Given the description of an element on the screen output the (x, y) to click on. 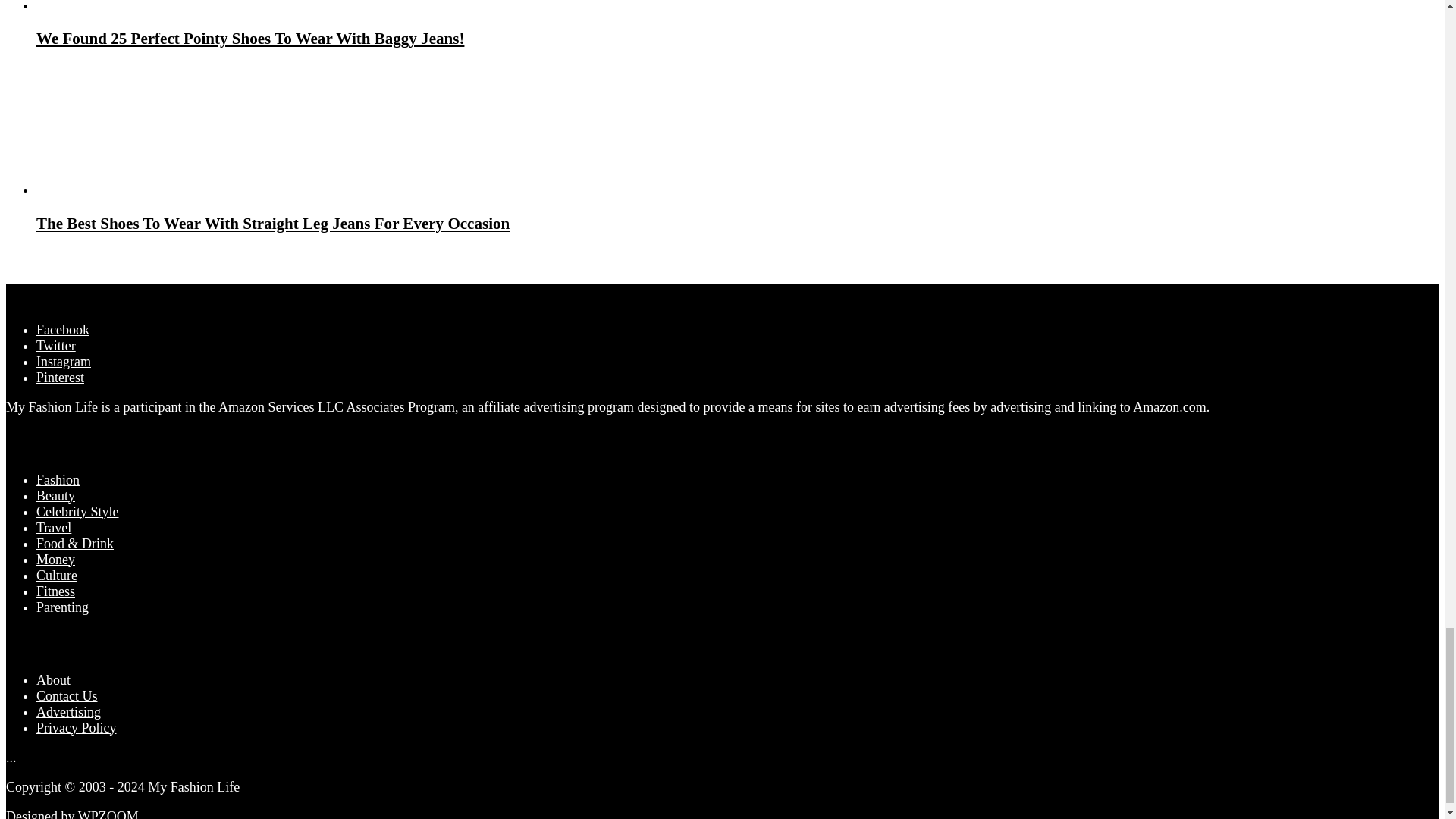
Facebook (62, 329)
Twitter (55, 345)
Pinterest (60, 377)
Instagram (63, 361)
